Given the description of an element on the screen output the (x, y) to click on. 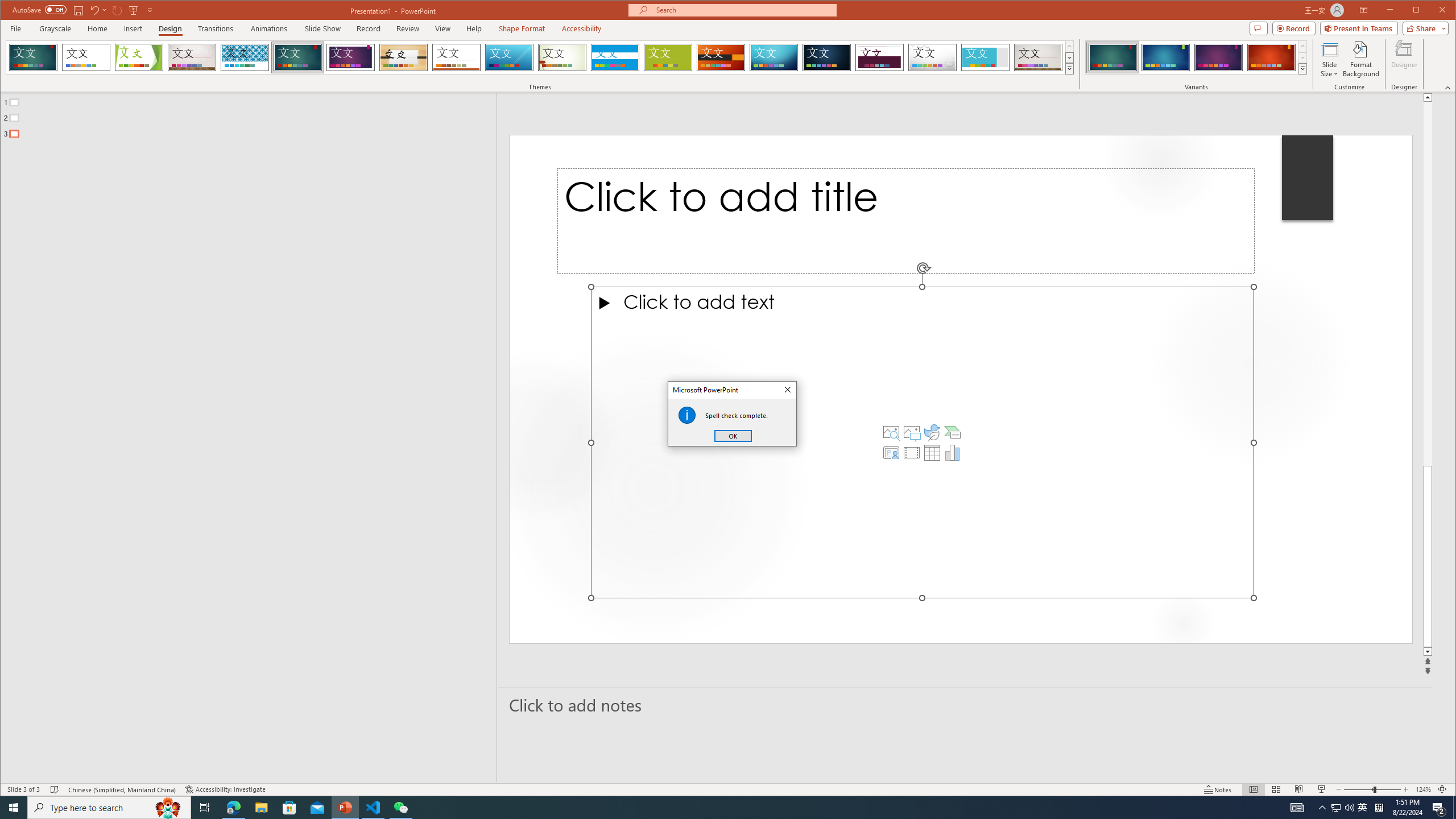
Insert Table (931, 452)
